Given the description of an element on the screen output the (x, y) to click on. 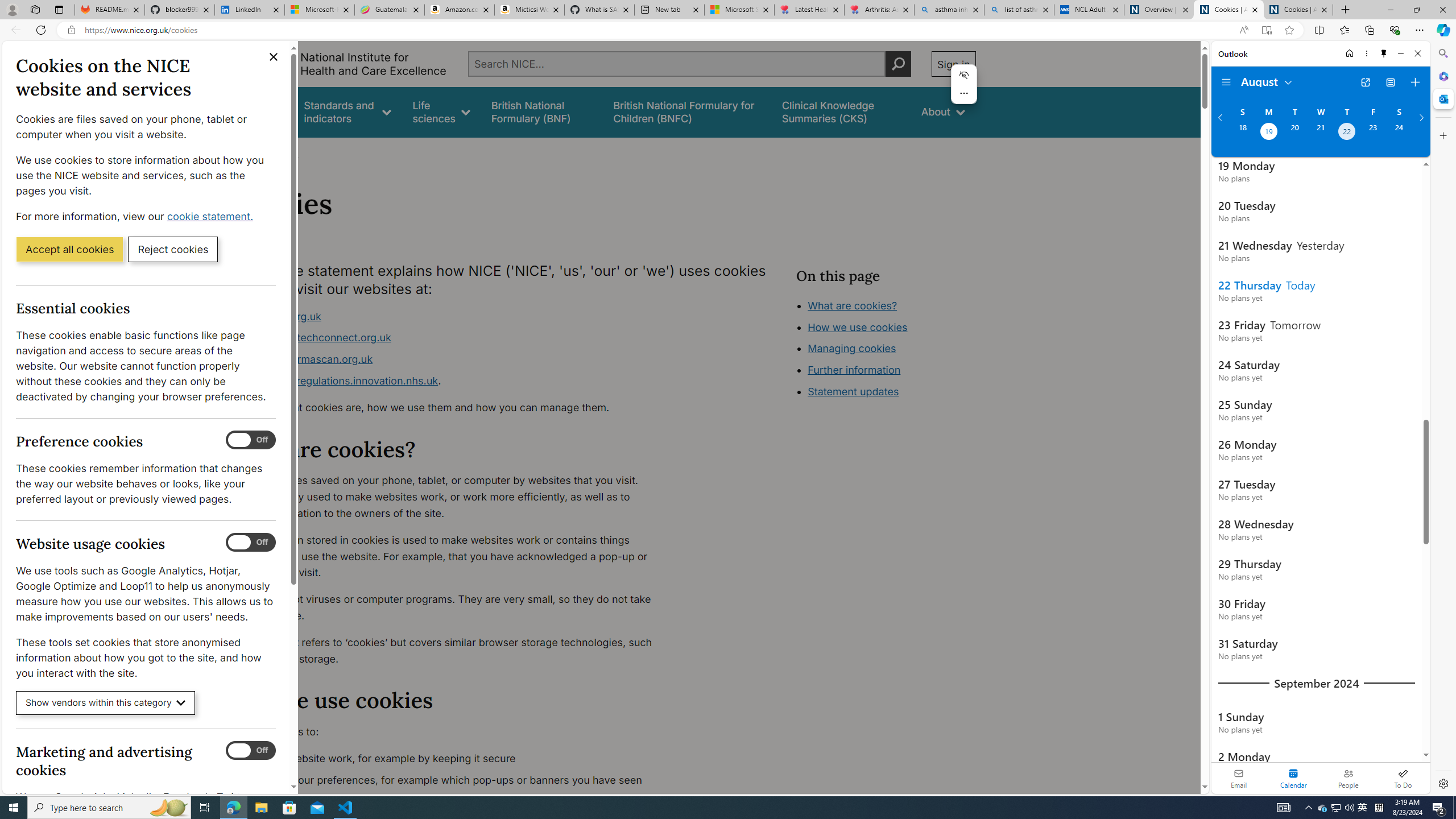
Monday, August 19, 2024. Date selected.  (1268, 132)
www.healthtechconnect.org.uk (452, 338)
Further information (854, 369)
How we use cookies (857, 327)
www.ukpharmascan.org.uk (452, 359)
Sunday, August 18, 2024.  (1242, 132)
www.nice.org.uk (279, 315)
Wednesday, August 21, 2024.  (1320, 132)
